Given the description of an element on the screen output the (x, y) to click on. 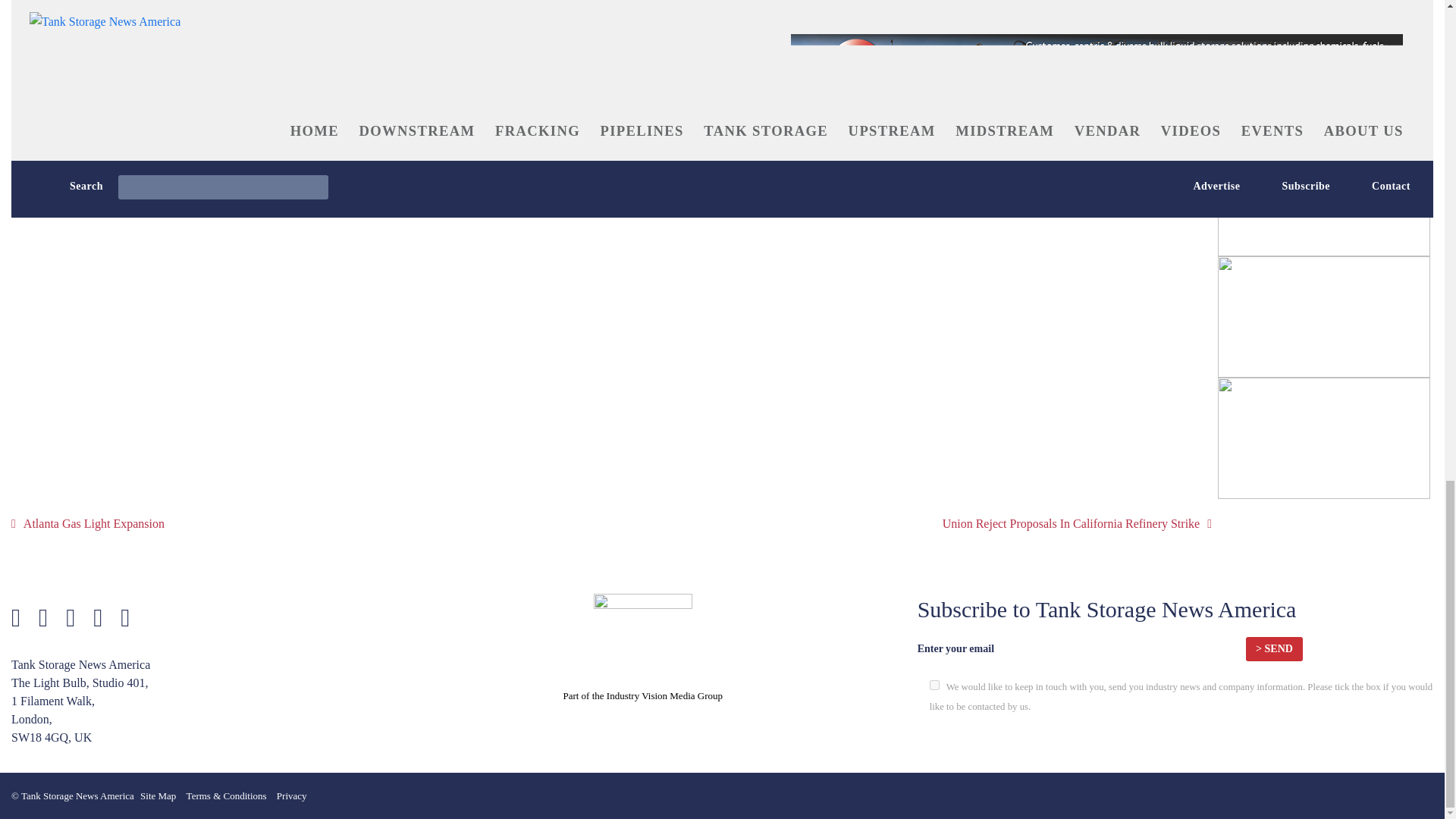
www.plains.com (213, 92)
Twitter (78, 117)
Pinterest (236, 117)
Yes (934, 685)
LinkedIn (314, 117)
Climate Change Plan (351, 4)
Facebook (156, 117)
Email (384, 117)
